Given the description of an element on the screen output the (x, y) to click on. 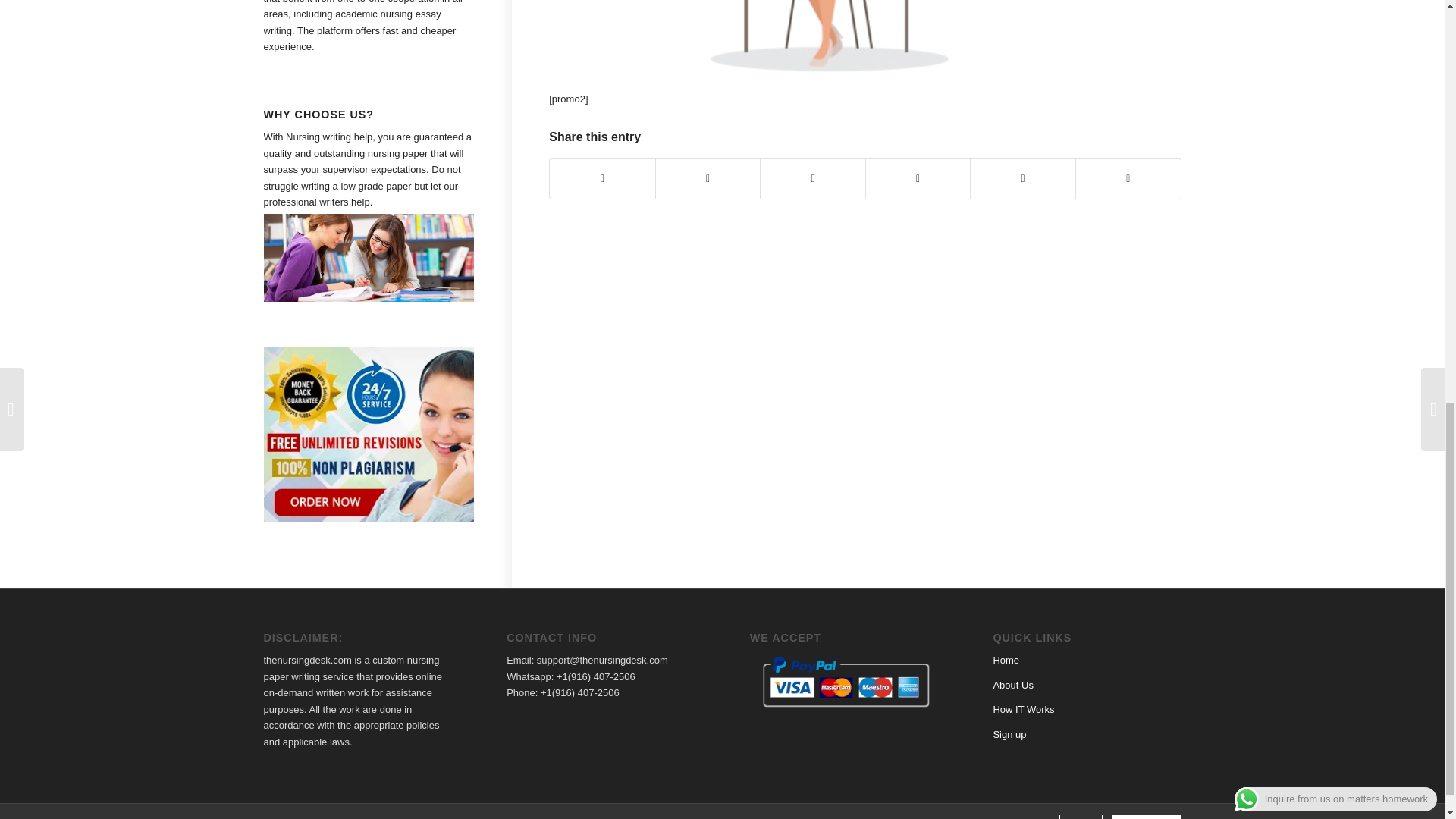
About Us (1012, 685)
Sign up (1009, 734)
ORDER NOW (1146, 814)
Home (1005, 659)
LOG IN (1080, 814)
How IT Works (1023, 708)
